Given the description of an element on the screen output the (x, y) to click on. 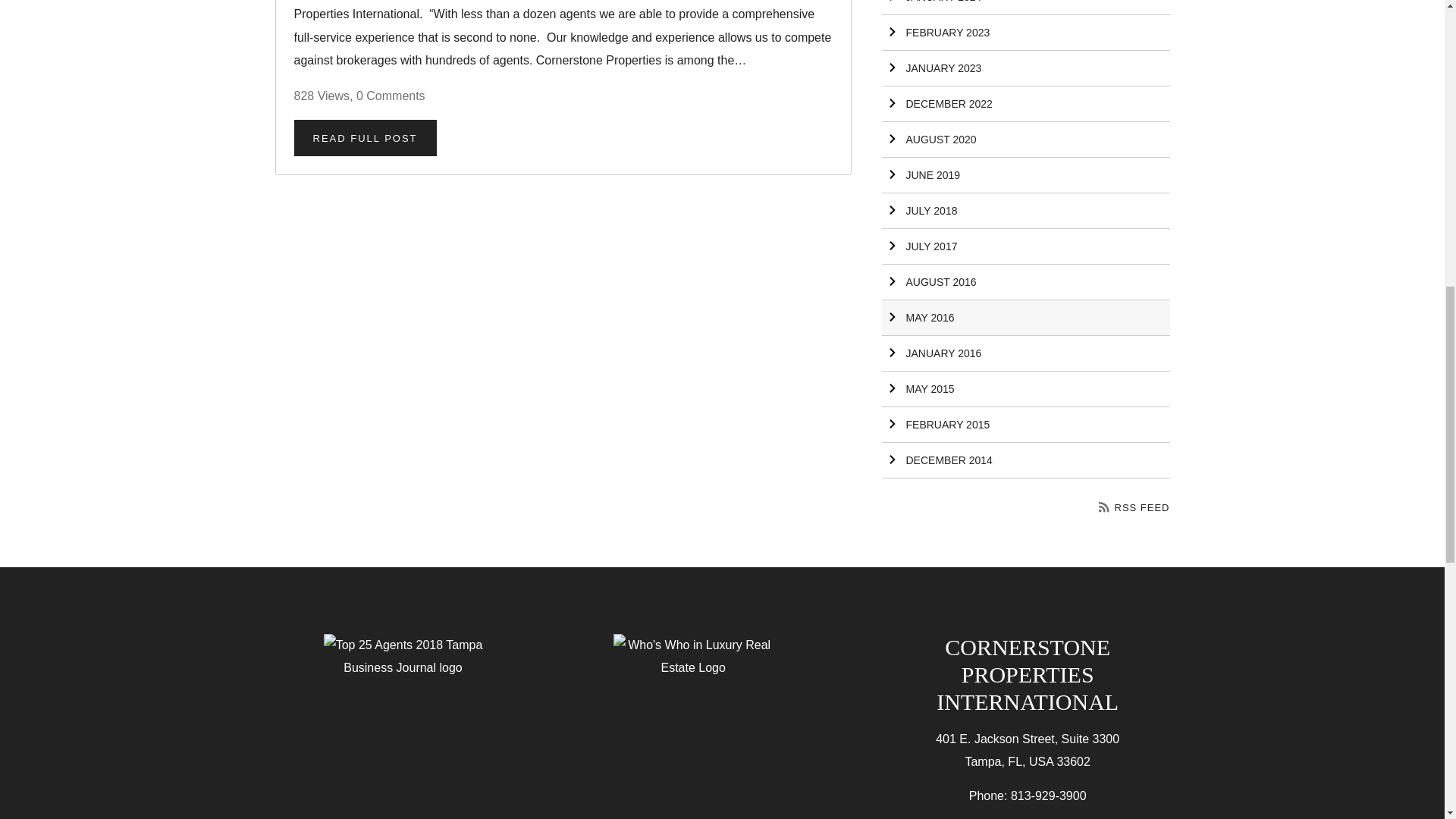
READ FULL POST (365, 137)
RSS FEED (1134, 507)
